Given the description of an element on the screen output the (x, y) to click on. 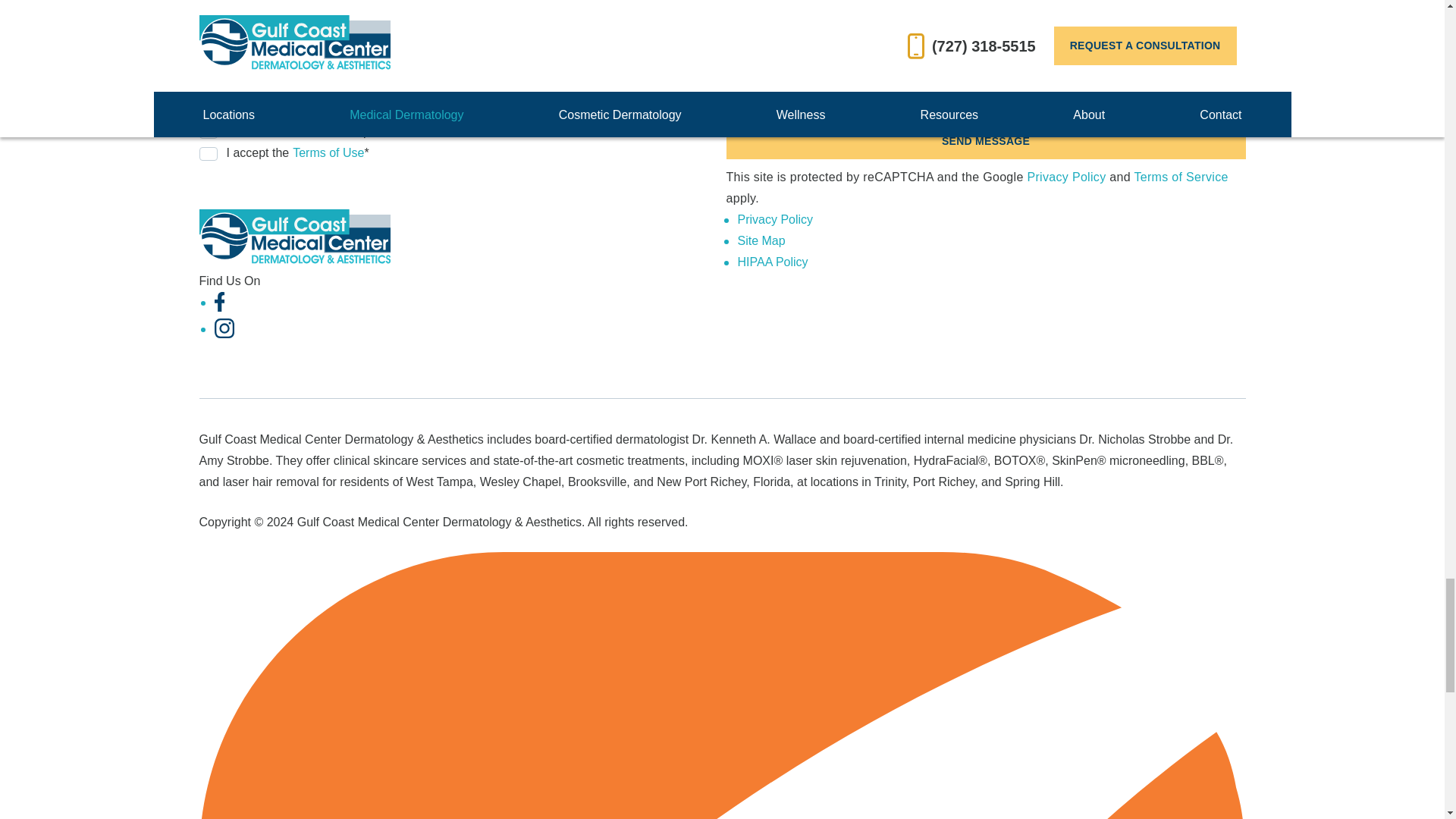
checked (207, 131)
checked (207, 153)
